Given the description of an element on the screen output the (x, y) to click on. 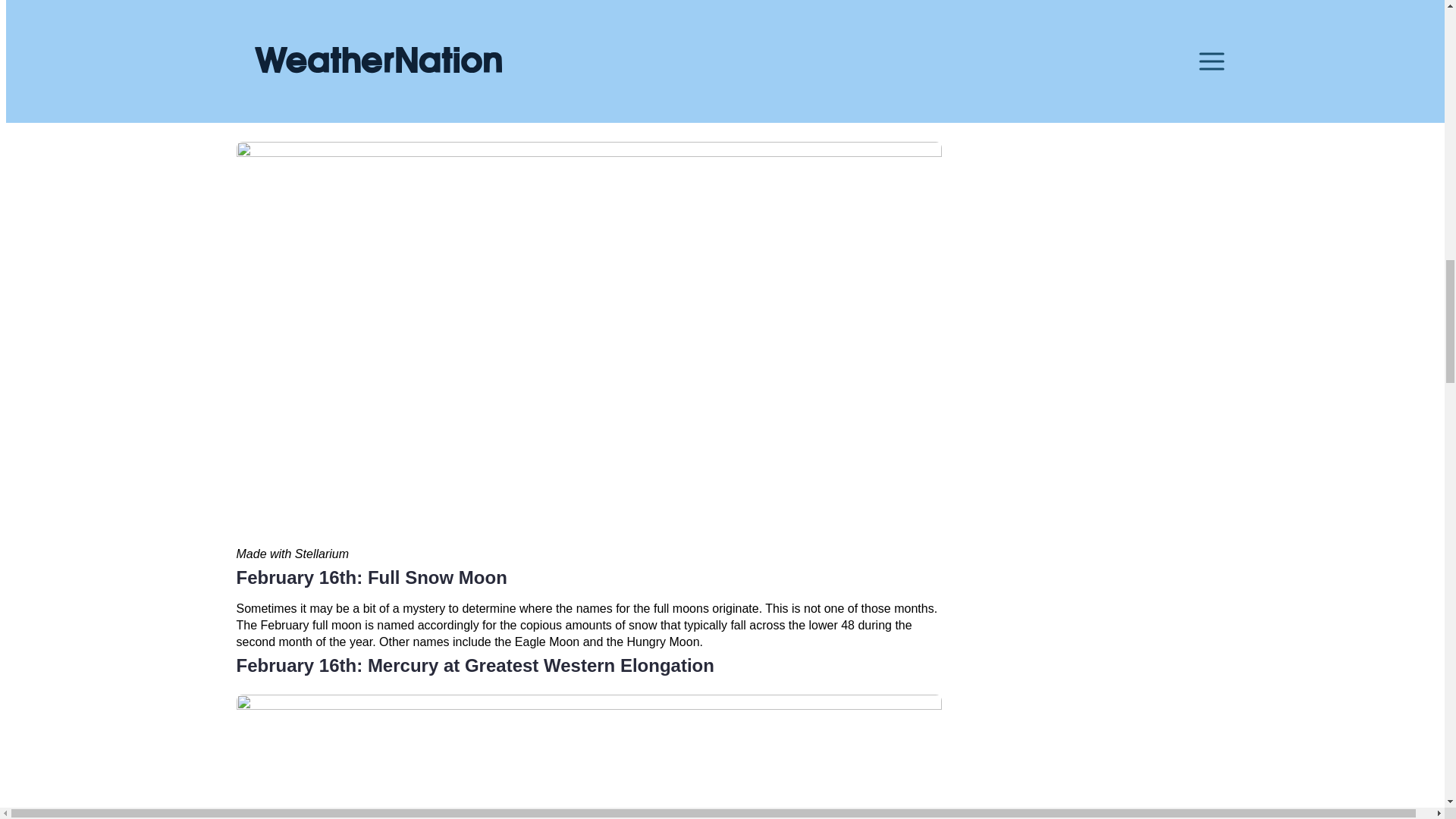
Stellarium (855, 97)
